Given the description of an element on the screen output the (x, y) to click on. 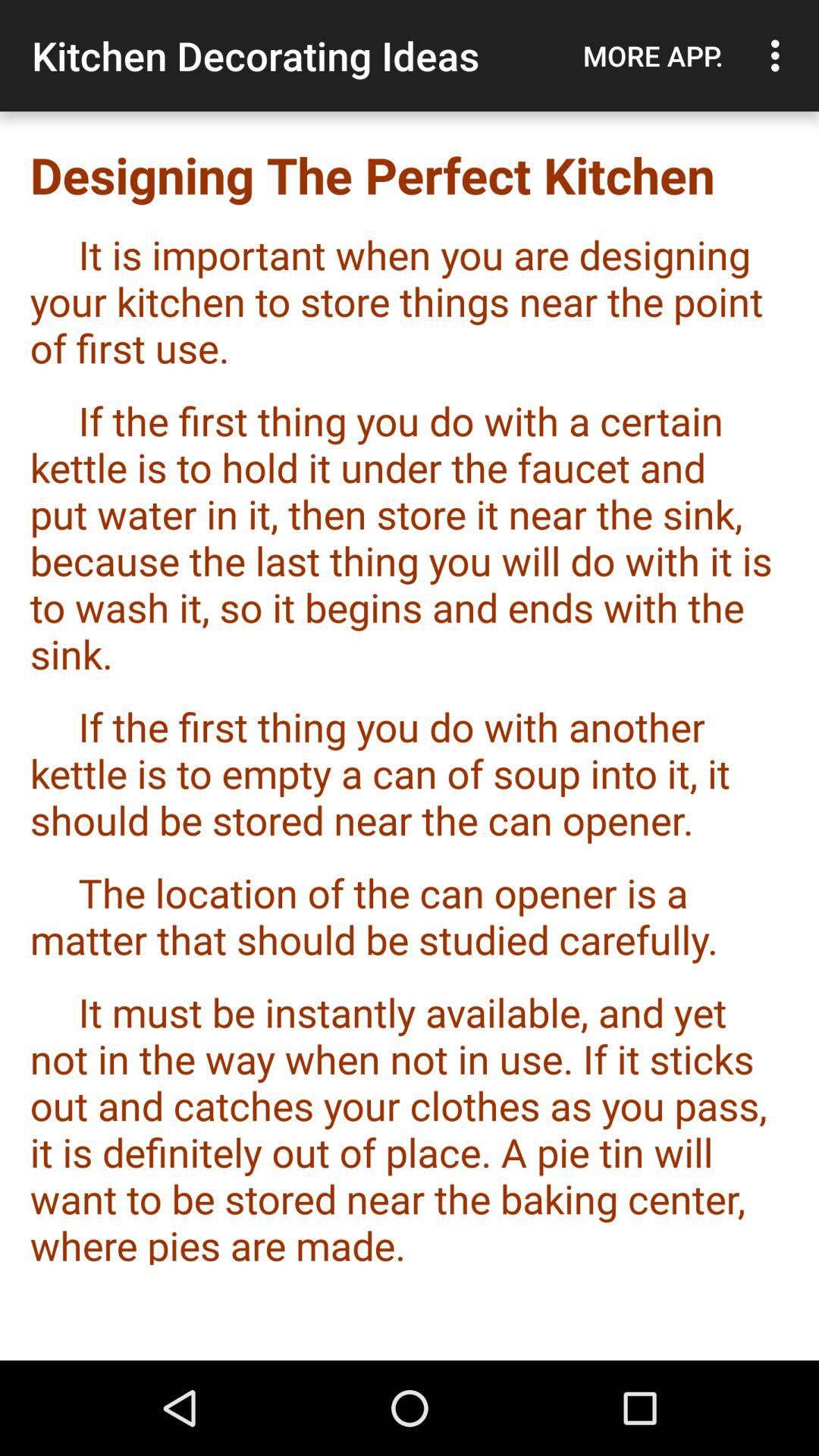
turn off the icon next to the more app. item (779, 55)
